Given the description of an element on the screen output the (x, y) to click on. 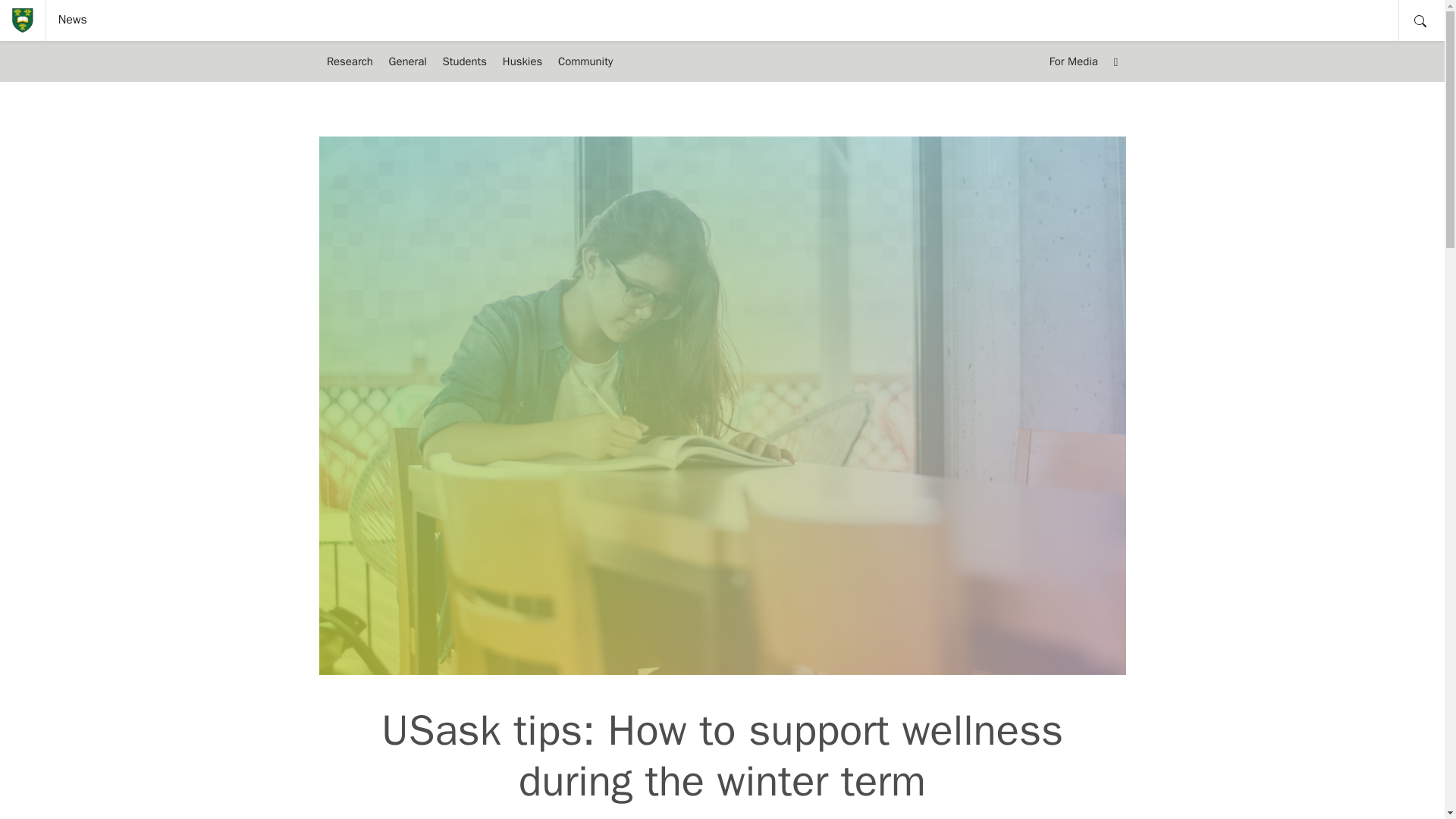
Community (585, 60)
Research (349, 60)
General (406, 60)
Students (464, 60)
News (72, 20)
For Media (1073, 60)
Huskies (522, 60)
